Given the description of an element on the screen output the (x, y) to click on. 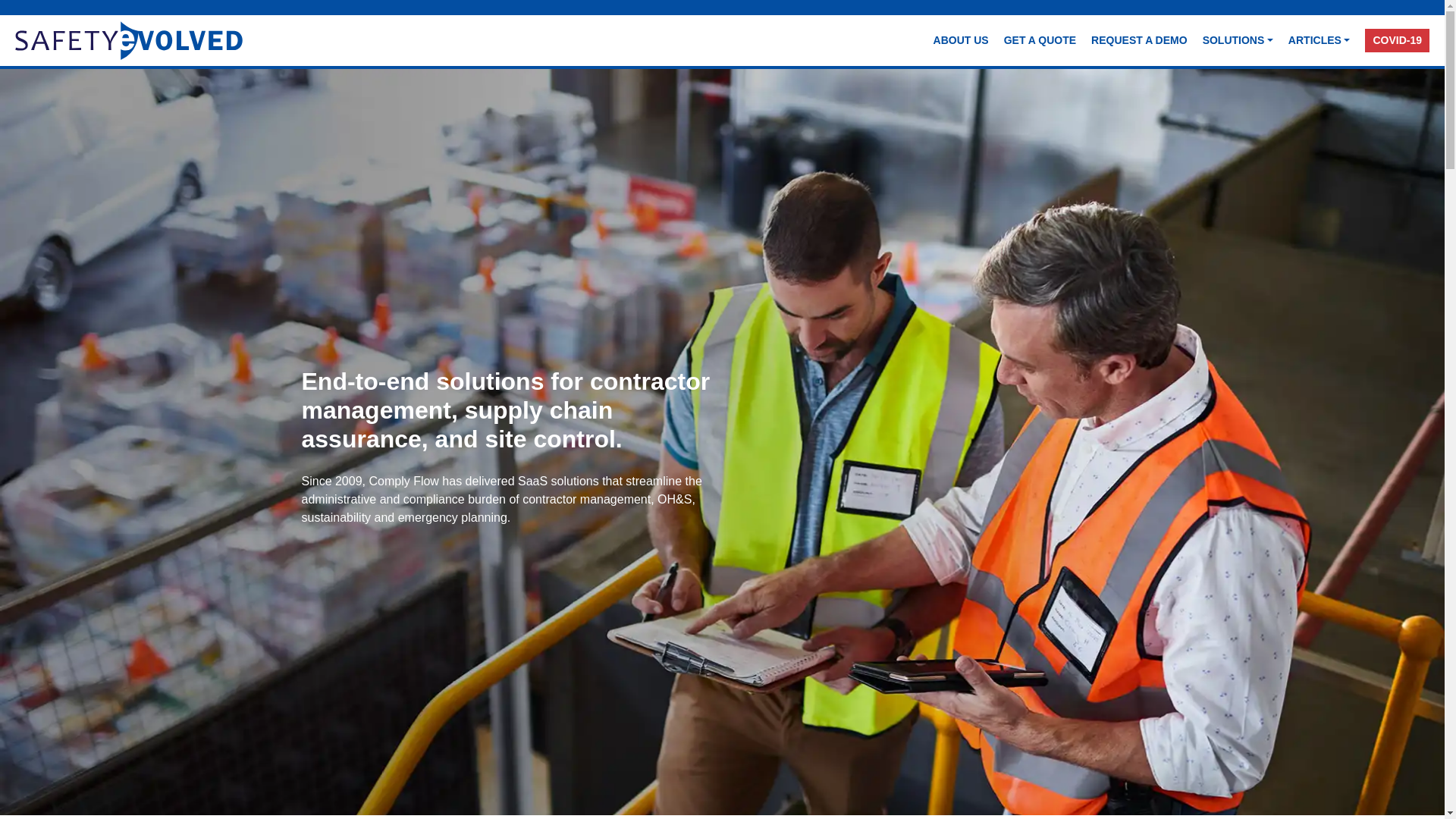
ABOUT US (960, 40)
SOLUTIONS (1238, 40)
COVID-19 (1397, 40)
ARTICLES (1319, 40)
REQUEST A DEMO (1139, 40)
GET A QUOTE (1039, 40)
